Given the description of an element on the screen output the (x, y) to click on. 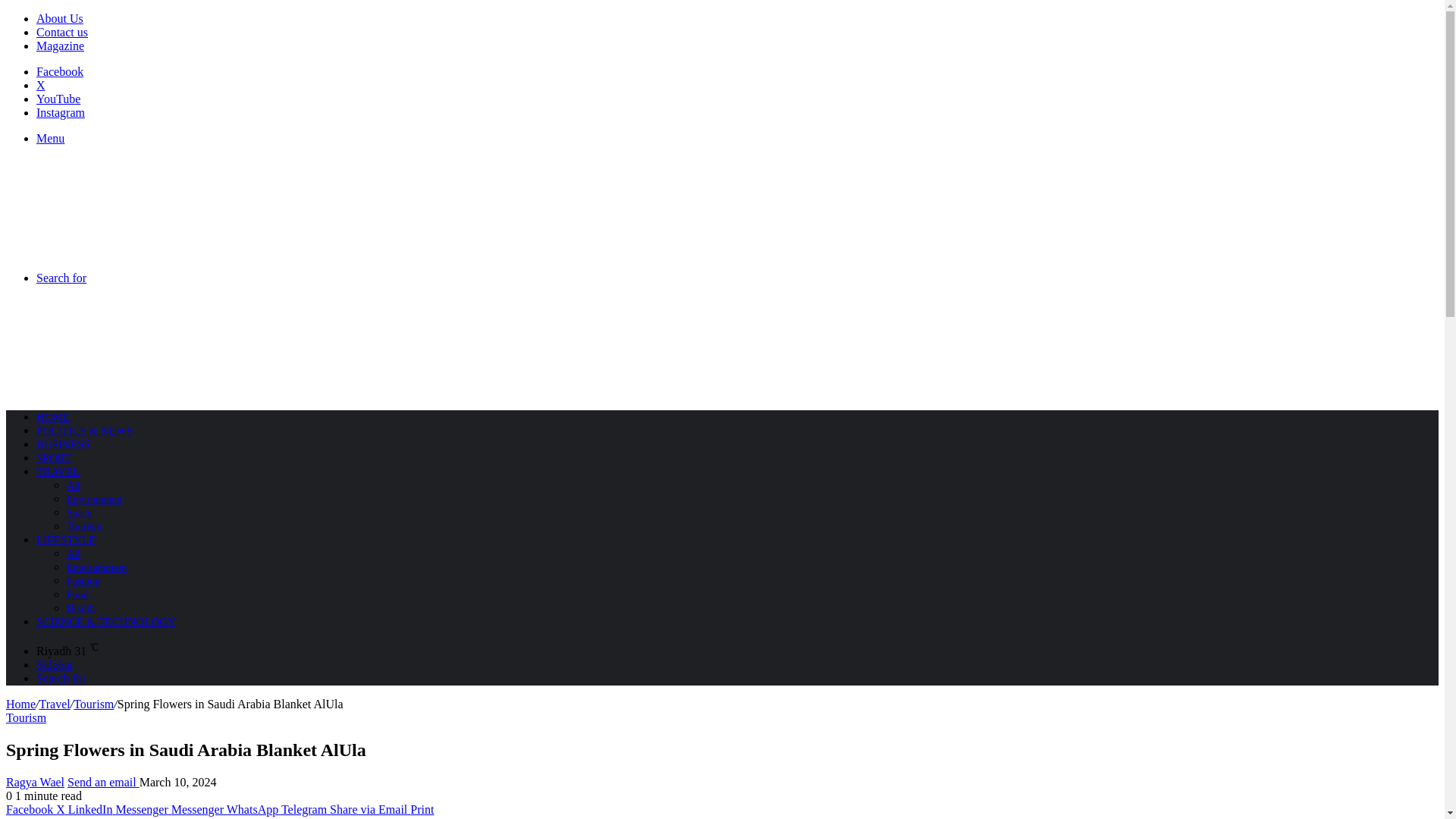
Tourism (93, 703)
Tourism (83, 526)
Health (80, 608)
Sidebar (55, 664)
Messenger (142, 809)
HOME (52, 417)
About Us (59, 18)
Travel (54, 703)
Tourism (25, 717)
Search for (60, 677)
